Given the description of an element on the screen output the (x, y) to click on. 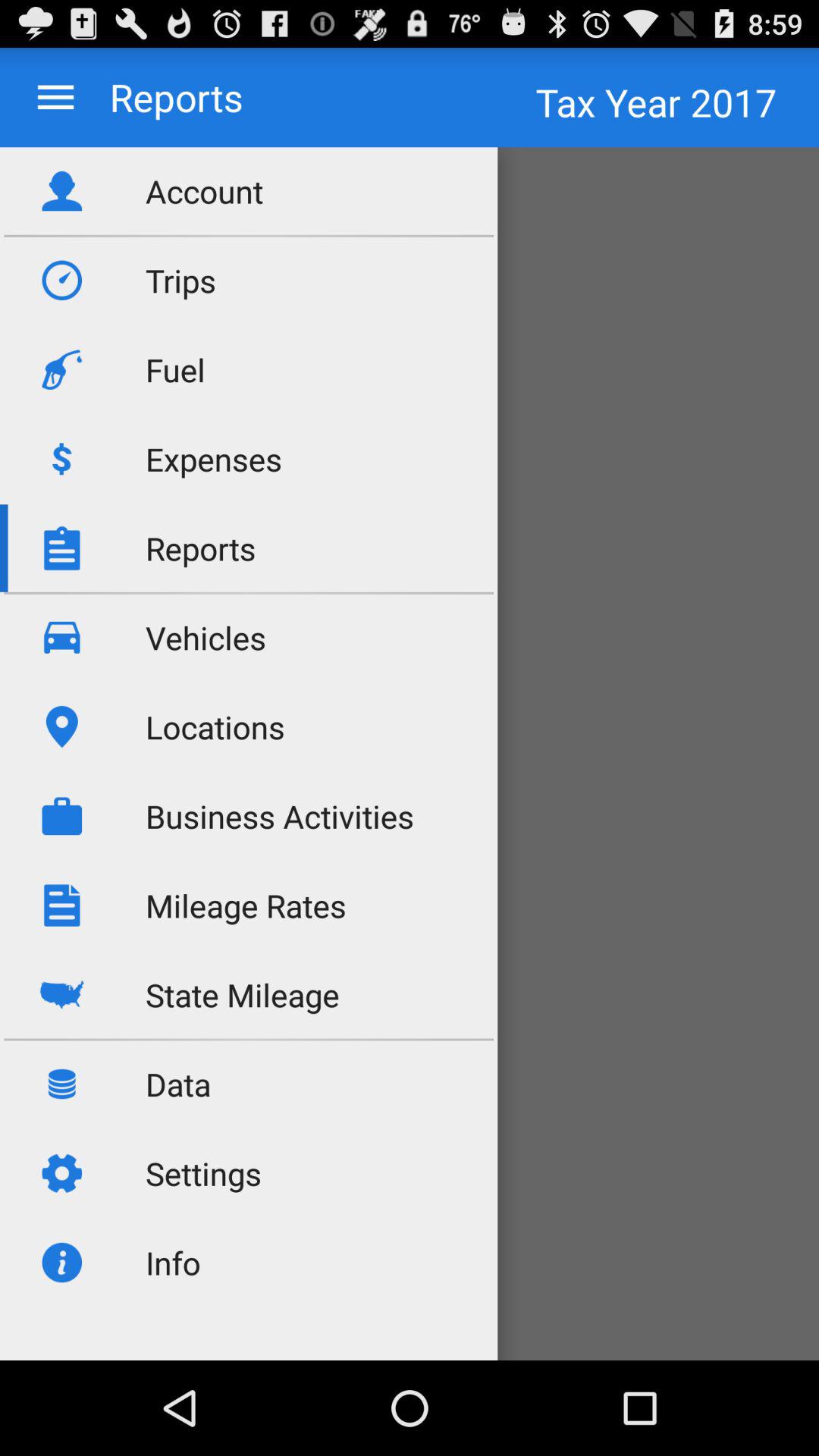
launch icon next to settings (409, 1278)
